Given the description of an element on the screen output the (x, y) to click on. 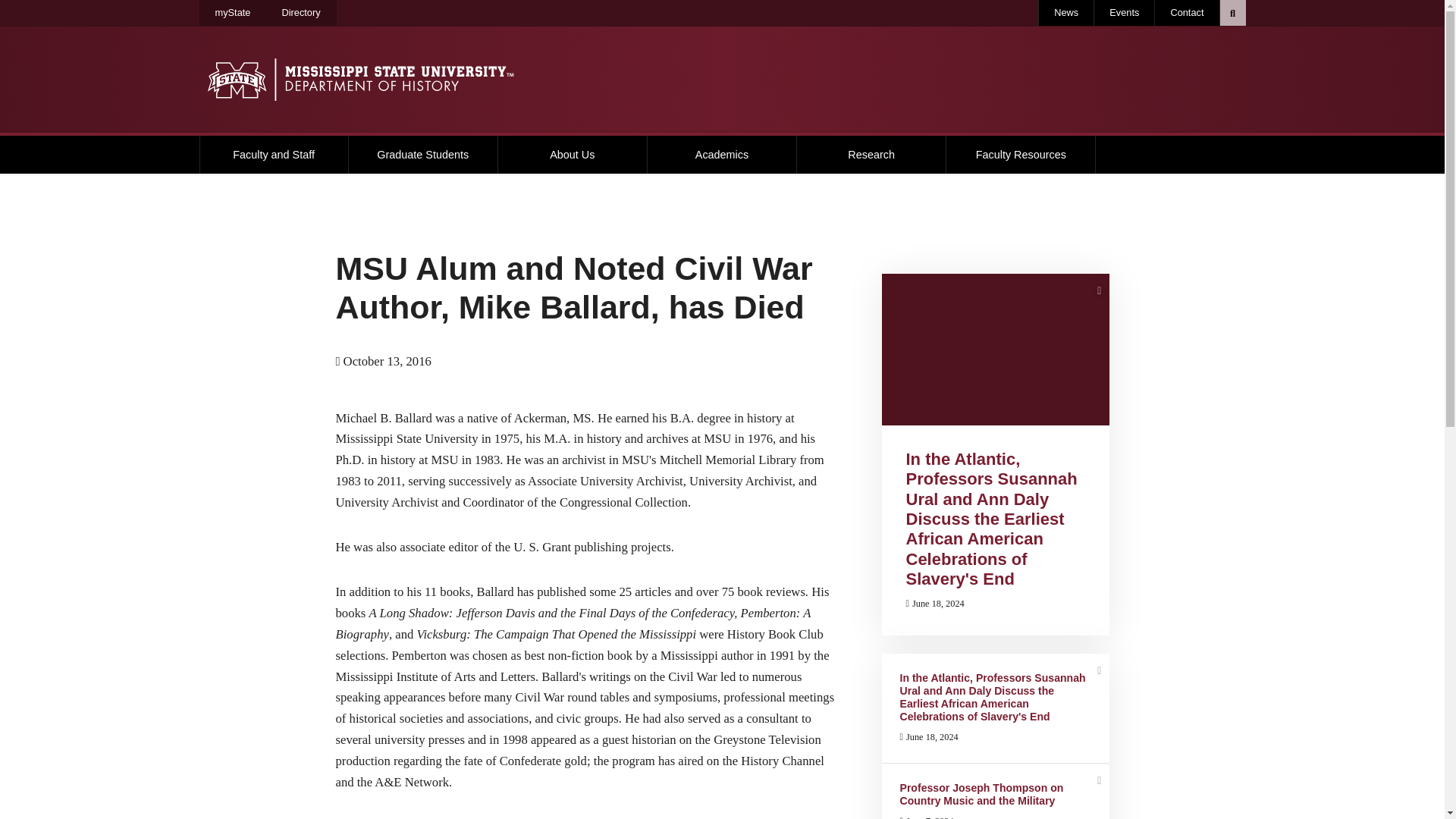
Search Department of History (1232, 12)
